Given the description of an element on the screen output the (x, y) to click on. 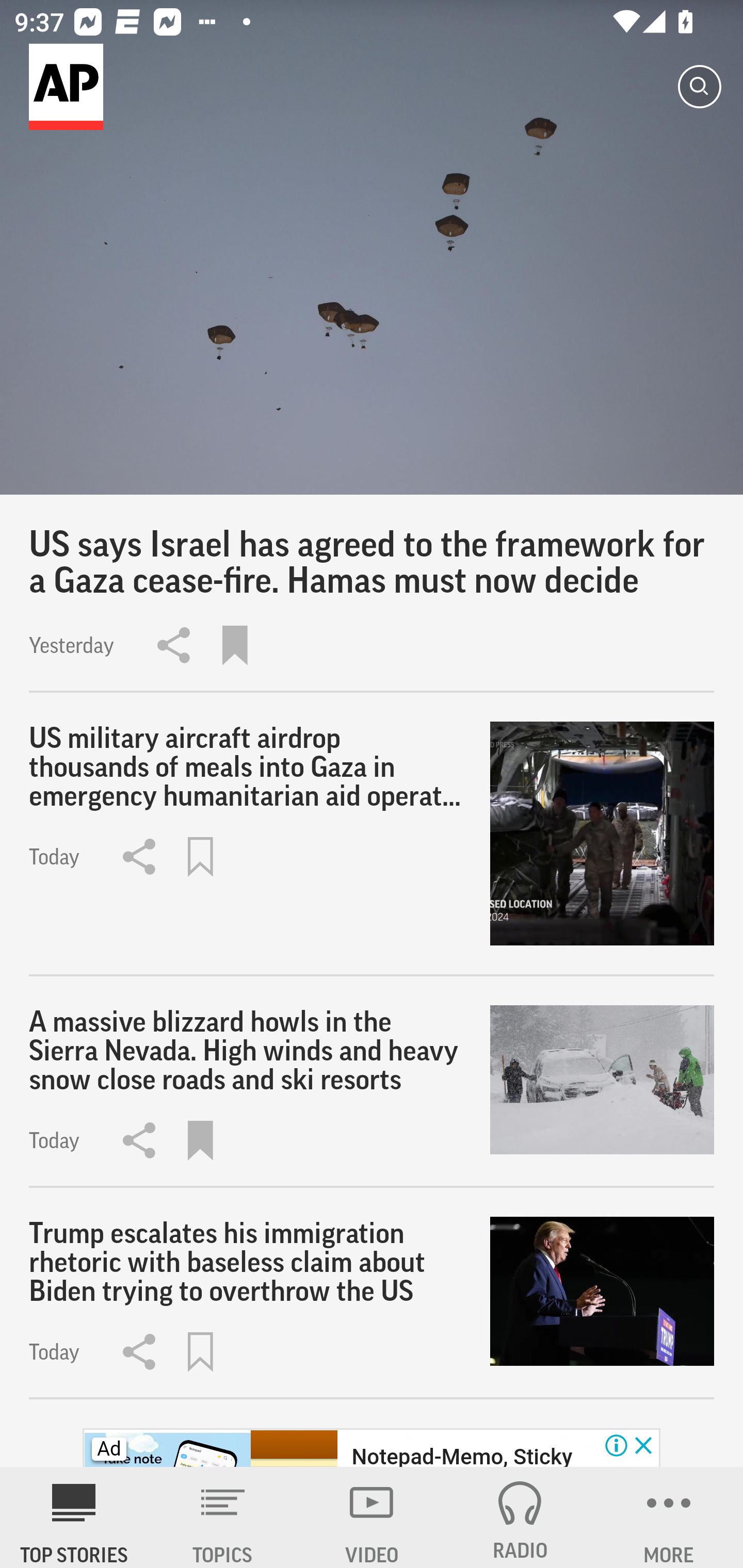
Notepad-Memo, Sticky Notebooks (461, 1454)
AP News TOP STORIES (74, 1517)
TOPICS (222, 1517)
VIDEO (371, 1517)
RADIO (519, 1517)
MORE (668, 1517)
